Given the description of an element on the screen output the (x, y) to click on. 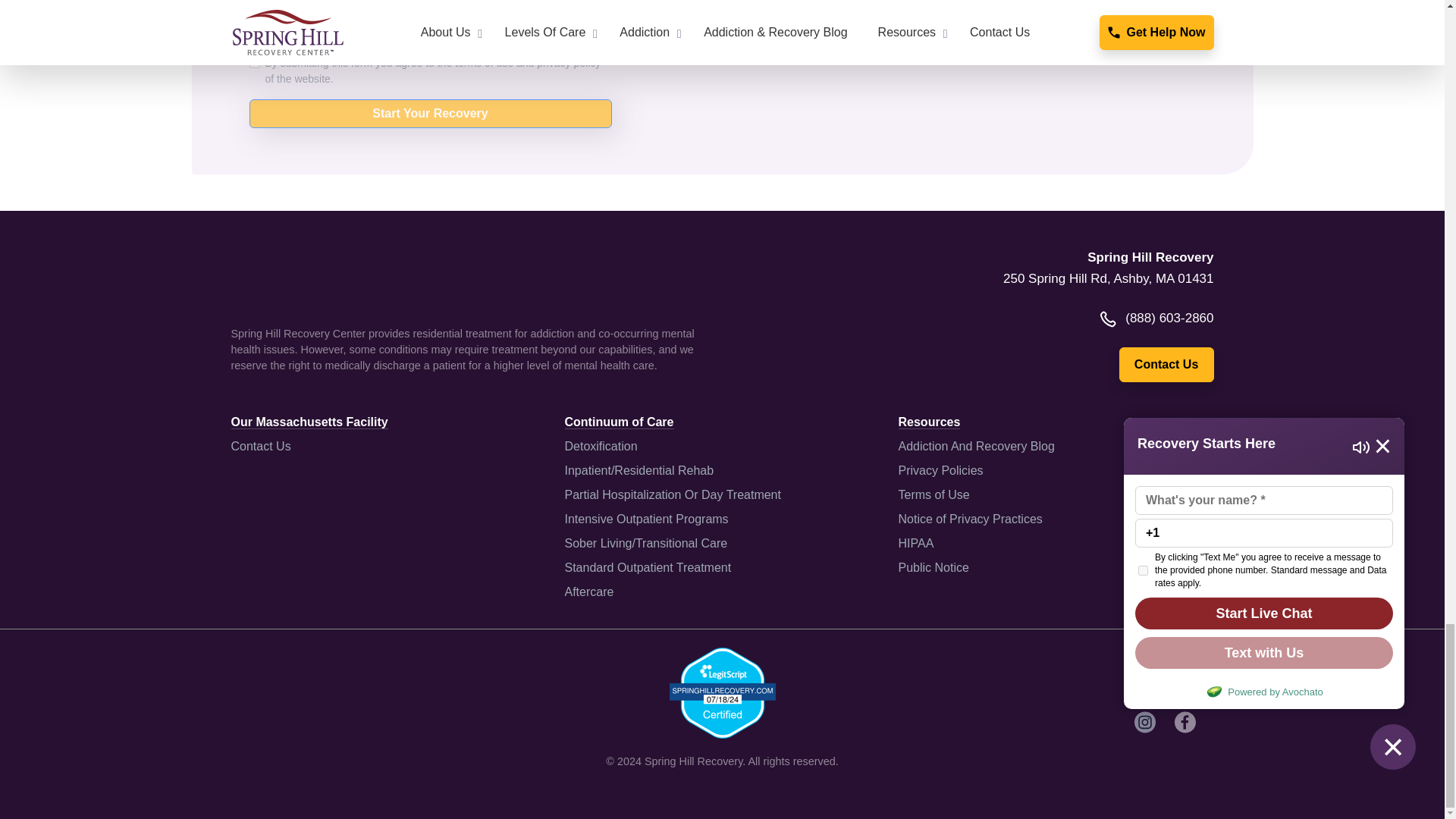
on (253, 62)
Verify LegitScript Approval (721, 692)
